Given the description of an element on the screen output the (x, y) to click on. 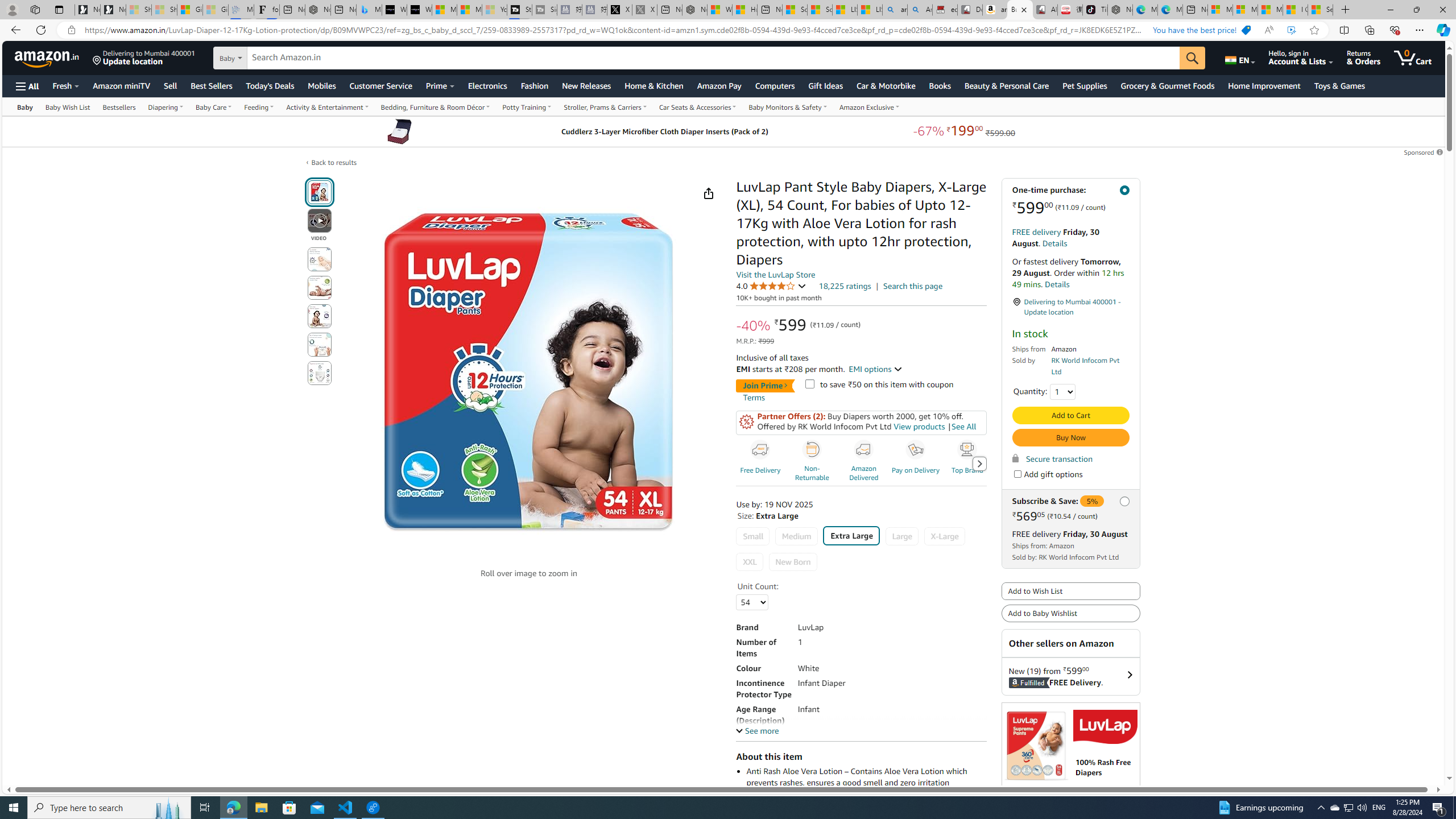
Back to results (333, 162)
18,225 ratings (844, 285)
X-Large (943, 536)
Share (707, 193)
Terms (753, 396)
XXL (749, 561)
Open Menu (26, 86)
Skip to main content (48, 56)
